Given the description of an element on the screen output the (x, y) to click on. 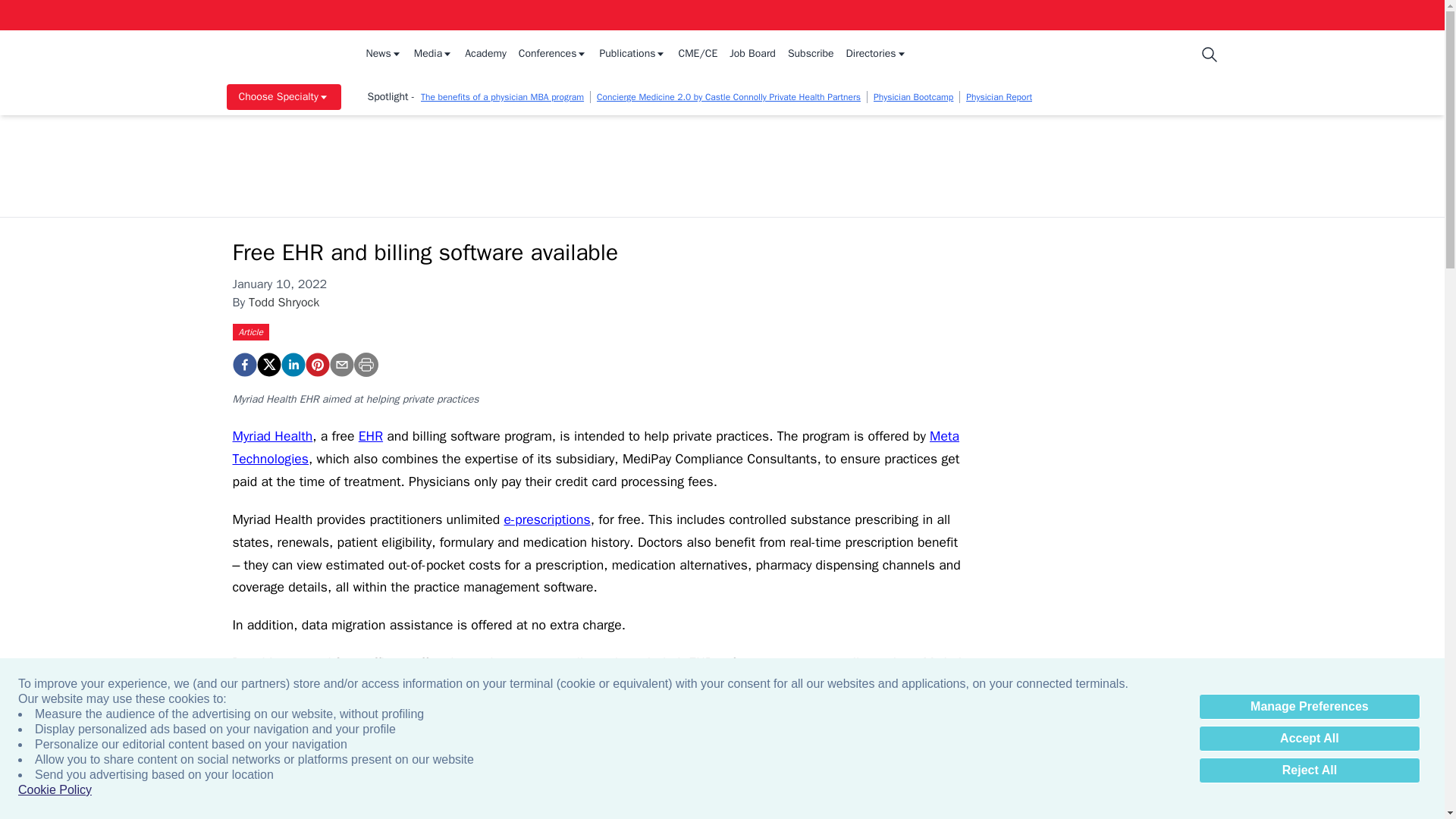
Cookie Policy (54, 789)
Manage Preferences (1309, 706)
Accept All (1309, 738)
Publications (631, 54)
Reject All (1309, 769)
Media (432, 54)
News (383, 54)
Academy (485, 54)
Free EHR and billing software available (243, 364)
Conferences (553, 54)
